Given the description of an element on the screen output the (x, y) to click on. 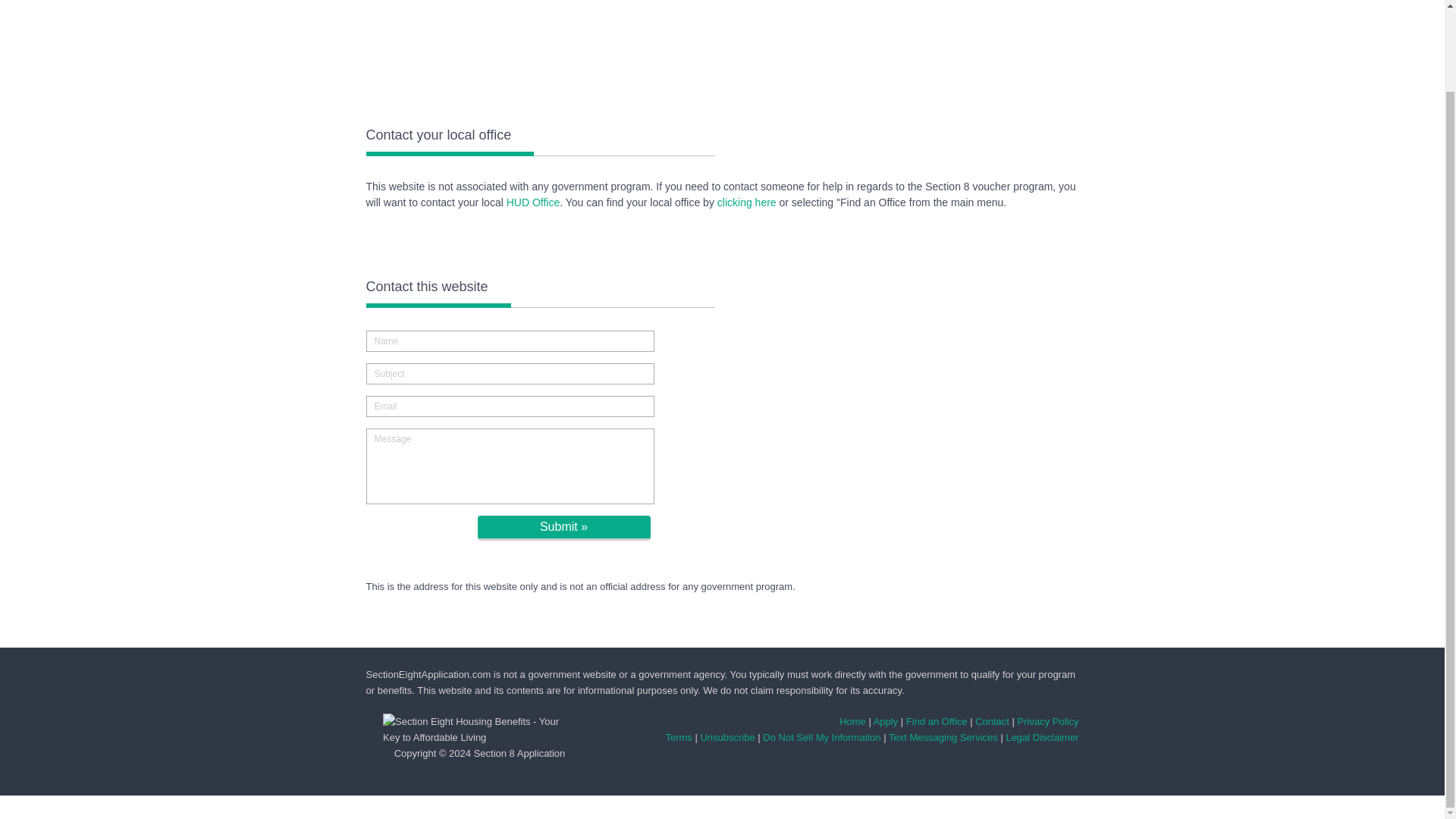
Legal Disclaimer (1042, 737)
Find an Office (936, 721)
Text Messaging Services (942, 737)
Terms (678, 737)
Do Not Sell My Information (821, 737)
Contact (992, 721)
clicking here (746, 202)
Unsubscribe (727, 737)
Home (853, 721)
Privacy Policy (1047, 721)
Apply (885, 721)
HUD Office (533, 202)
